Given the description of an element on the screen output the (x, y) to click on. 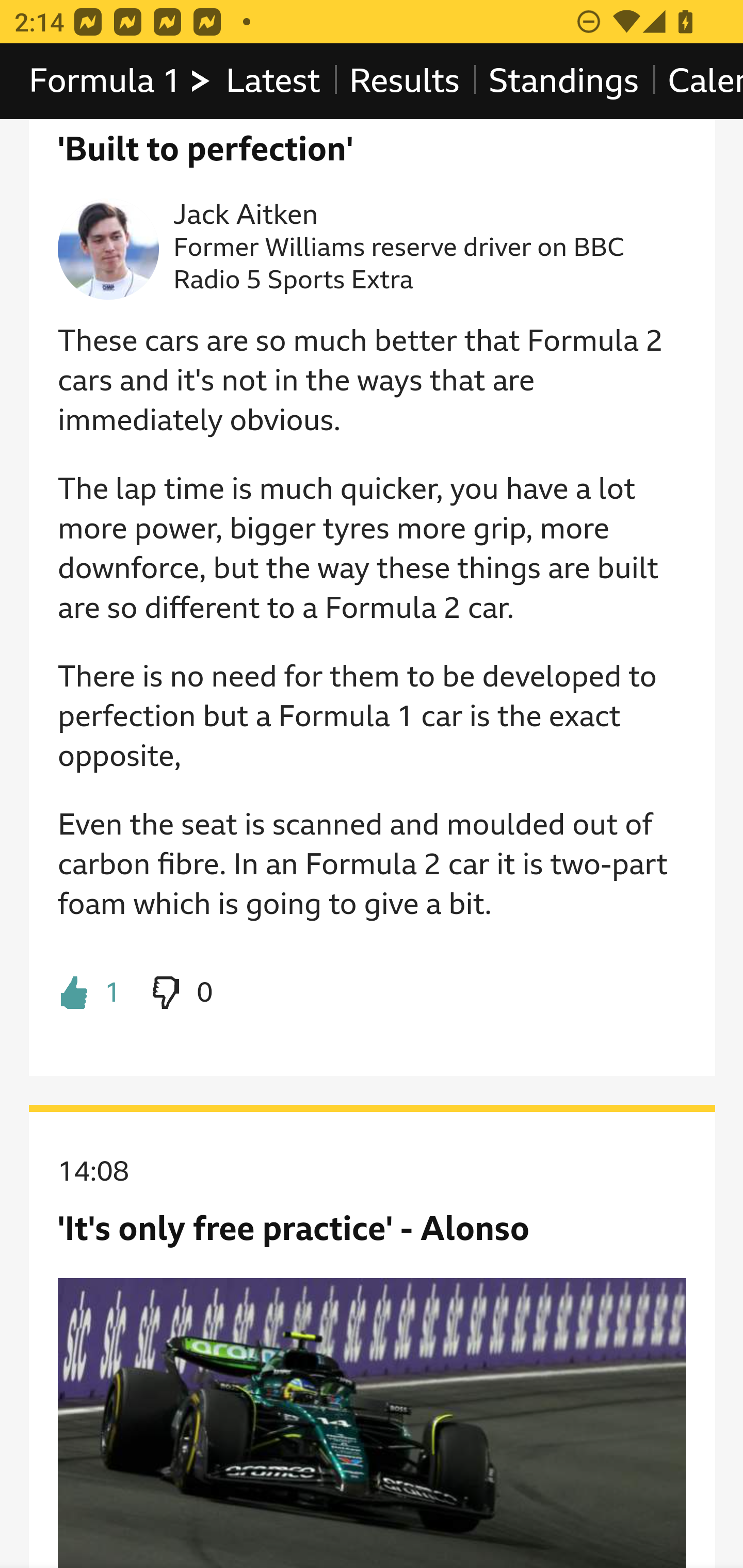
Liked (89, 992)
Dislike (180, 992)
